Given the description of an element on the screen output the (x, y) to click on. 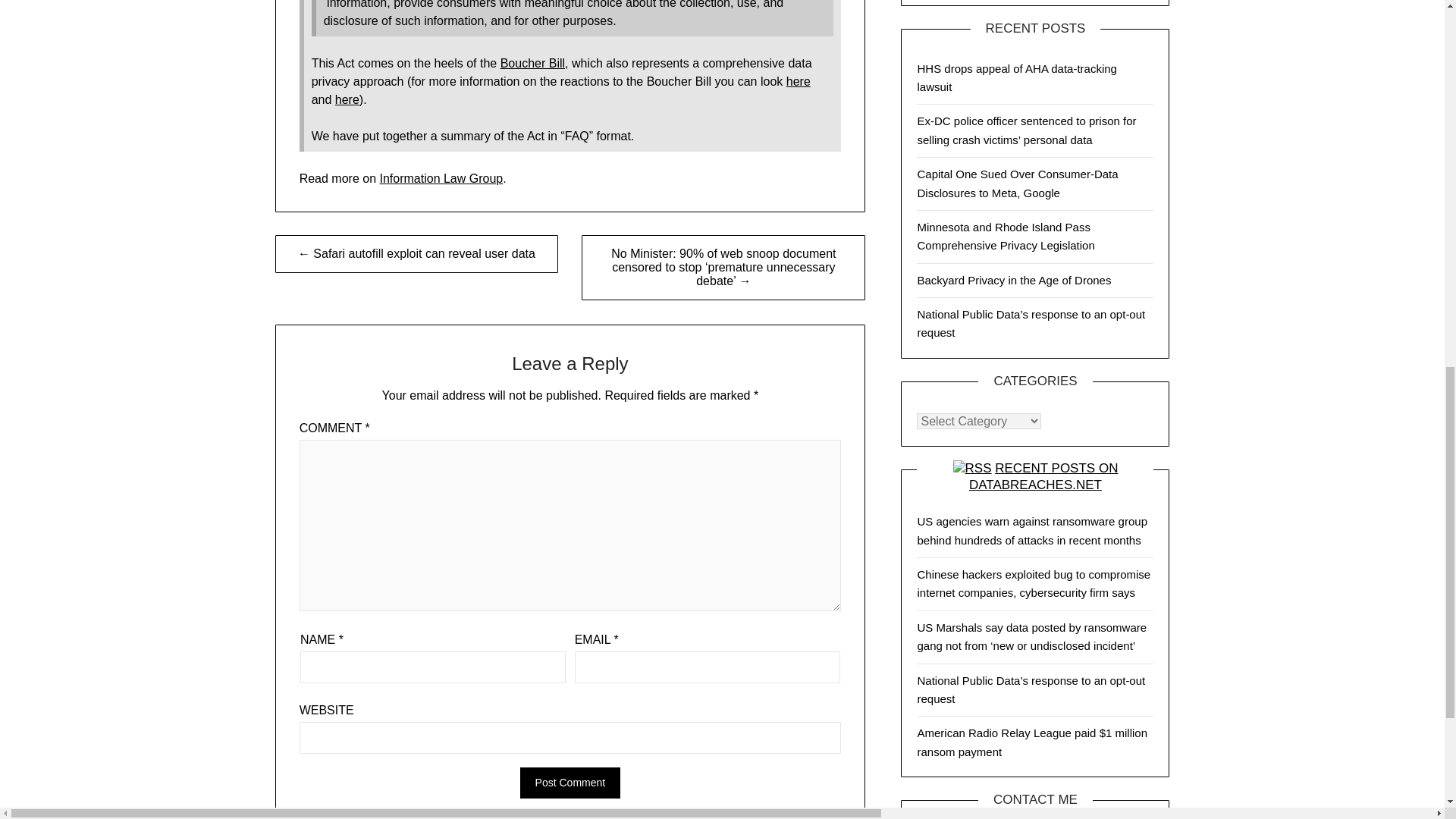
Backyard Privacy in the Age of Drones (1013, 279)
here (798, 81)
Information Law Group (440, 178)
here (346, 99)
Boucher Bill (532, 62)
Post Comment (570, 782)
